Given the description of an element on the screen output the (x, y) to click on. 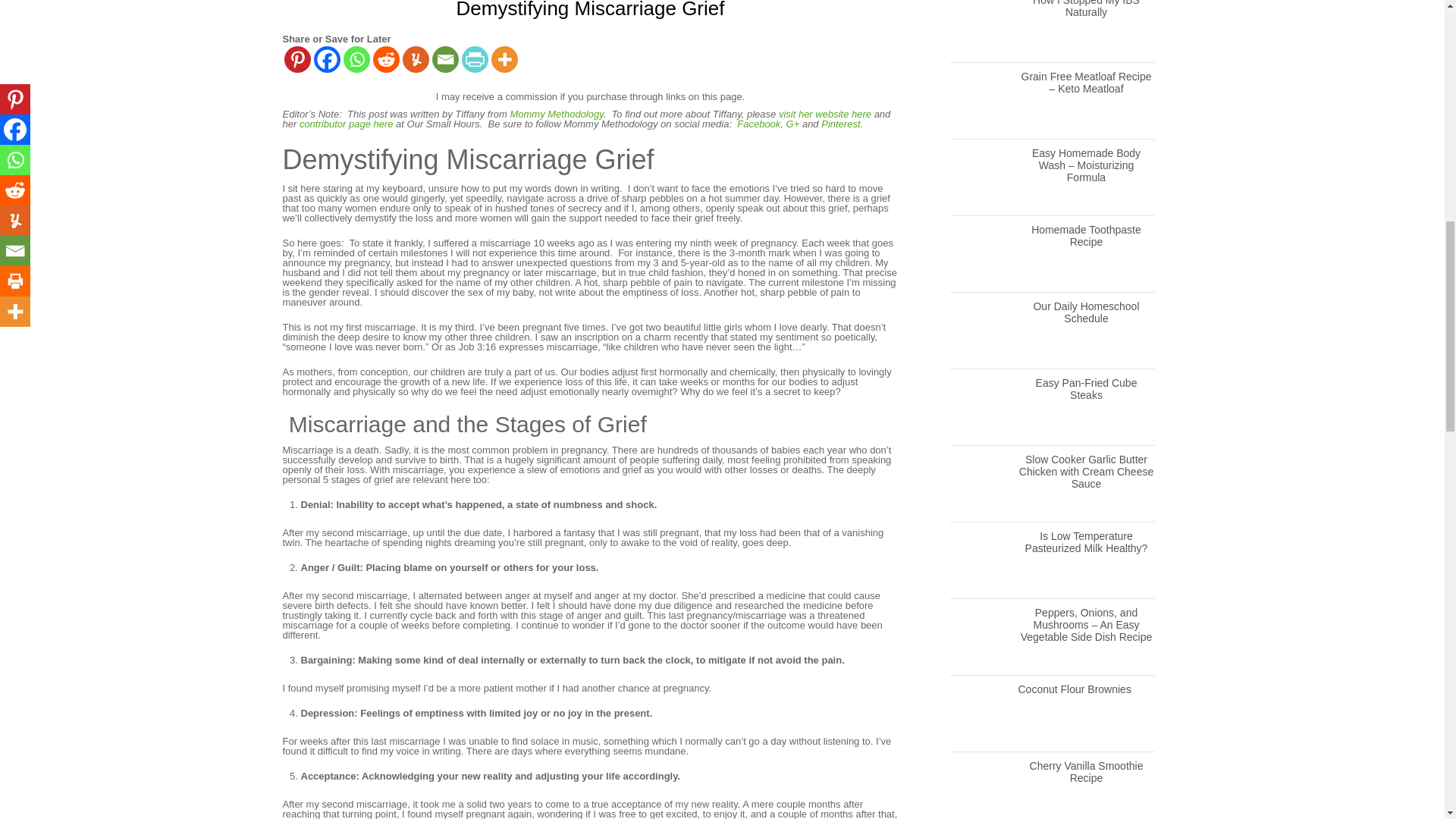
PrintFriendly (474, 58)
Yummly (414, 58)
More (505, 58)
Pinterest (296, 58)
Facebook (327, 58)
Email (445, 58)
Whatsapp (355, 58)
Reddit (385, 58)
